Given the description of an element on the screen output the (x, y) to click on. 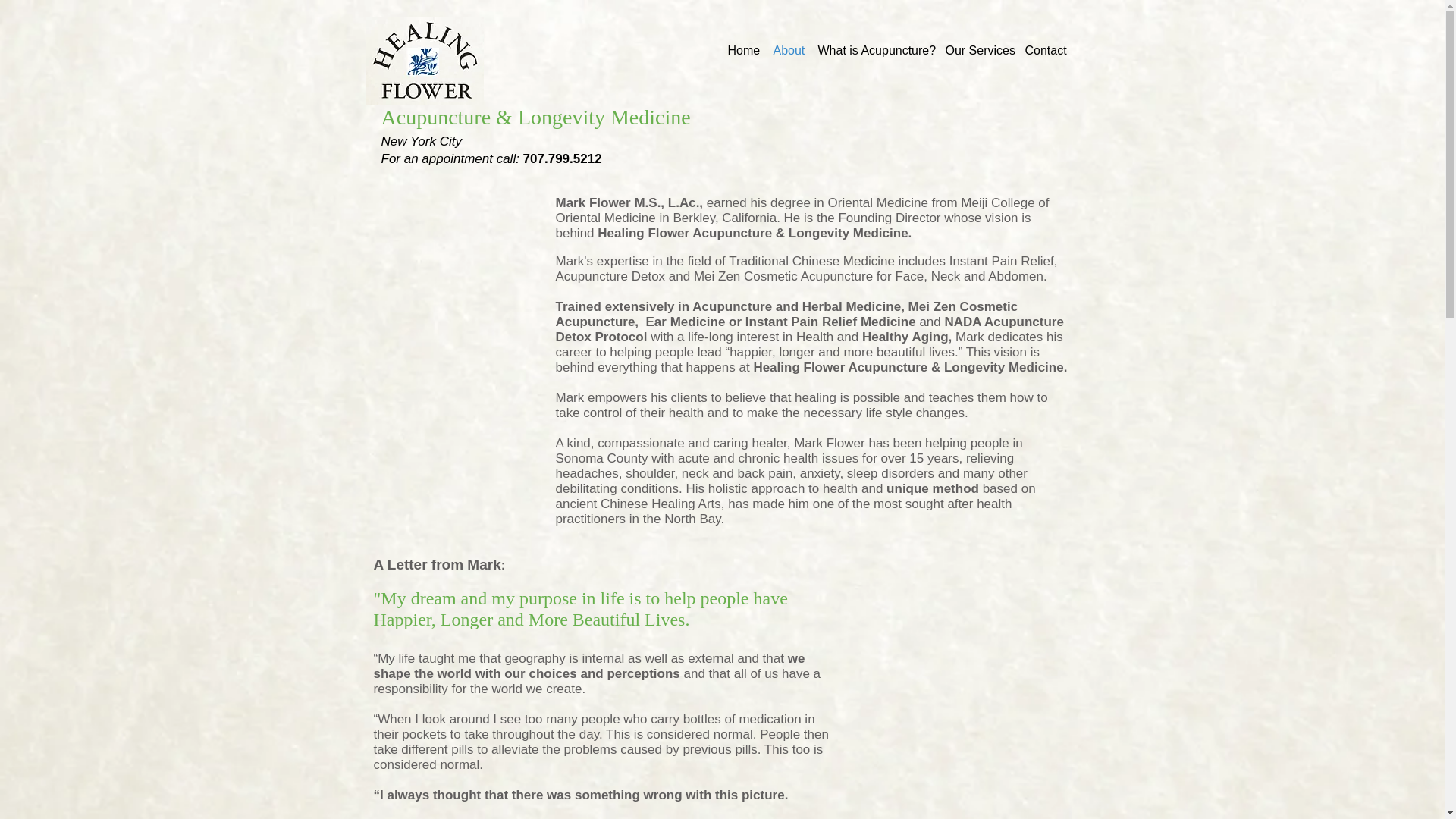
Contact (1044, 49)
Our Services (976, 49)
LOGO 2.jpg (424, 60)
About (787, 49)
Home (742, 49)
What is Acupuncture? (873, 49)
